Given the description of an element on the screen output the (x, y) to click on. 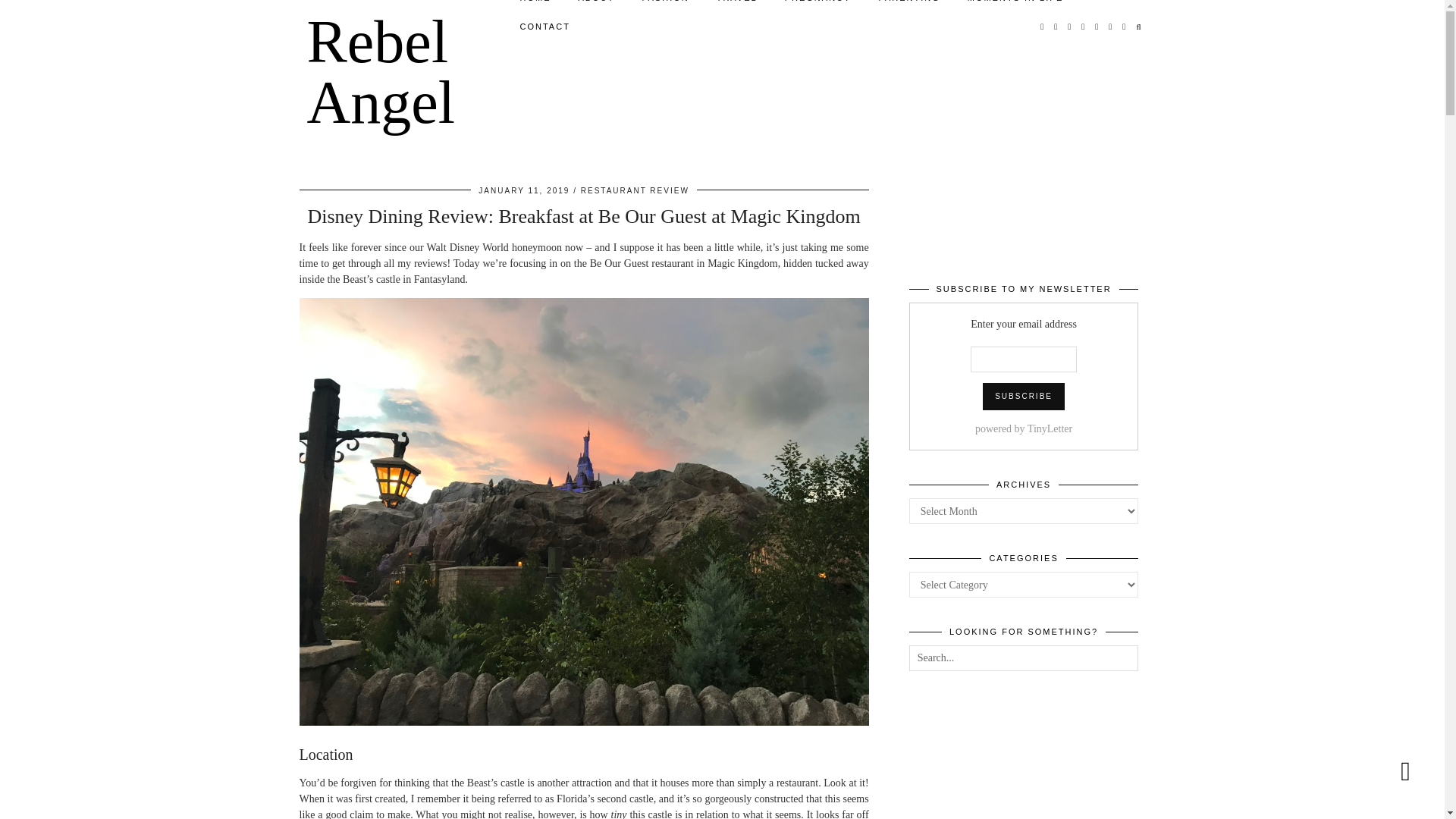
PARENTING (908, 6)
ABOUT (595, 6)
RESTAURANT REVIEW (634, 190)
CONTACT (544, 26)
HOME (535, 6)
PREGNANCY (817, 6)
Subscribe (1023, 396)
FASHION (664, 6)
MOMENTS IN LIFE (1015, 6)
TRAVEL (737, 6)
Rebel Angel (379, 71)
Rebel Angel (379, 71)
